Given the description of an element on the screen output the (x, y) to click on. 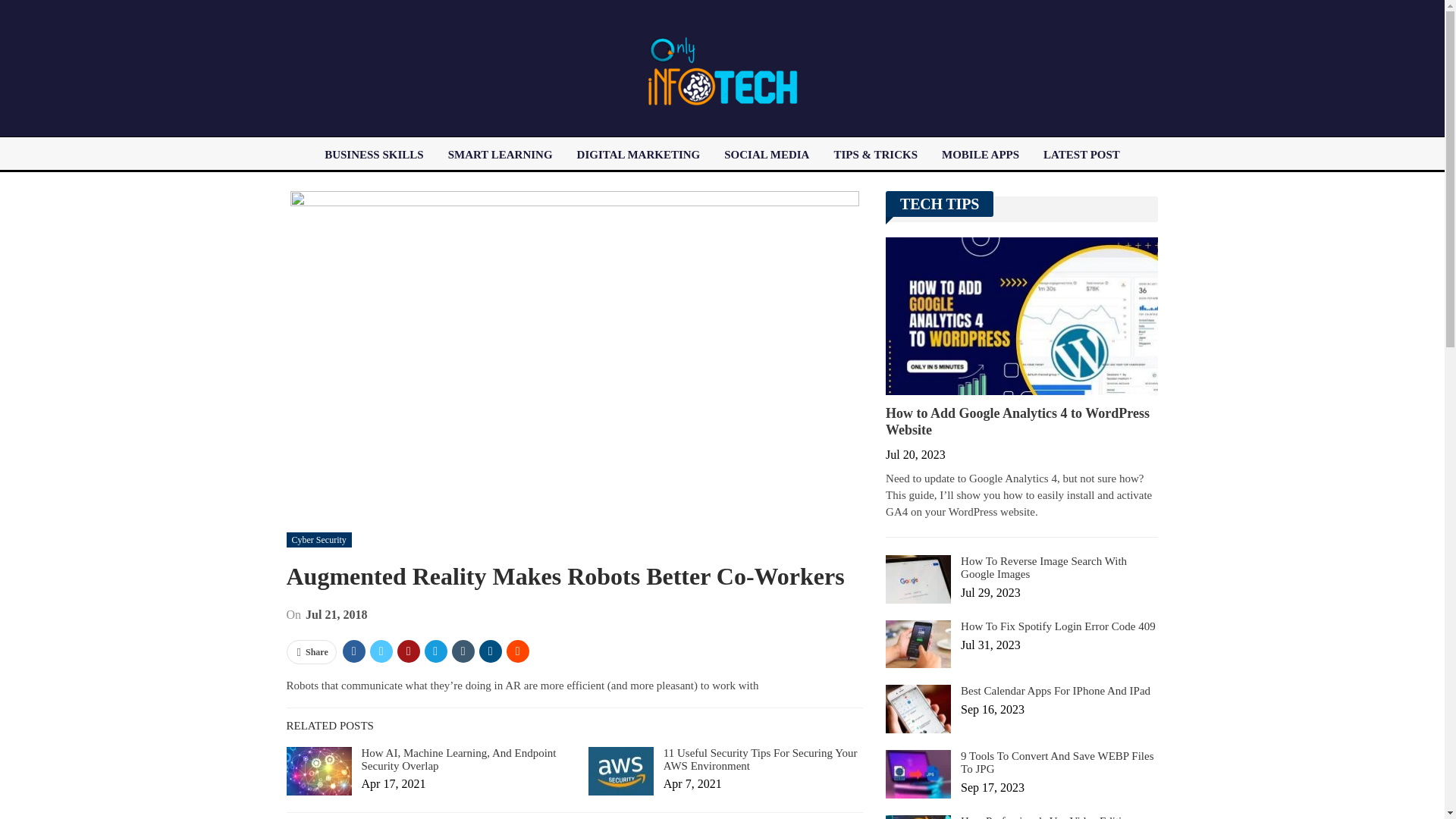
BUSINESS SKILLS (373, 154)
DIGITAL MARKETING (638, 154)
MOBILE APPS (980, 154)
11 Useful Security Tips For Securing Your AWS Environment (760, 759)
9 Tools to Convert and Save WEBP Files to JPG (917, 774)
LATEST POST (1081, 154)
How to Add Google Analytics 4 to WordPress Website (1021, 315)
SMART LEARNING (500, 154)
Cyber Security (319, 539)
11 Useful Security Tips for Securing Your AWS Environment (620, 770)
How AI, Machine Learning, and Endpoint Security Overlap (319, 770)
Best Calendar Apps for iPhone and iPad (917, 708)
How to Reverse Image Search With Google Images (917, 579)
How to Fix Spotify Login Error Code 409 (917, 644)
